Given the description of an element on the screen output the (x, y) to click on. 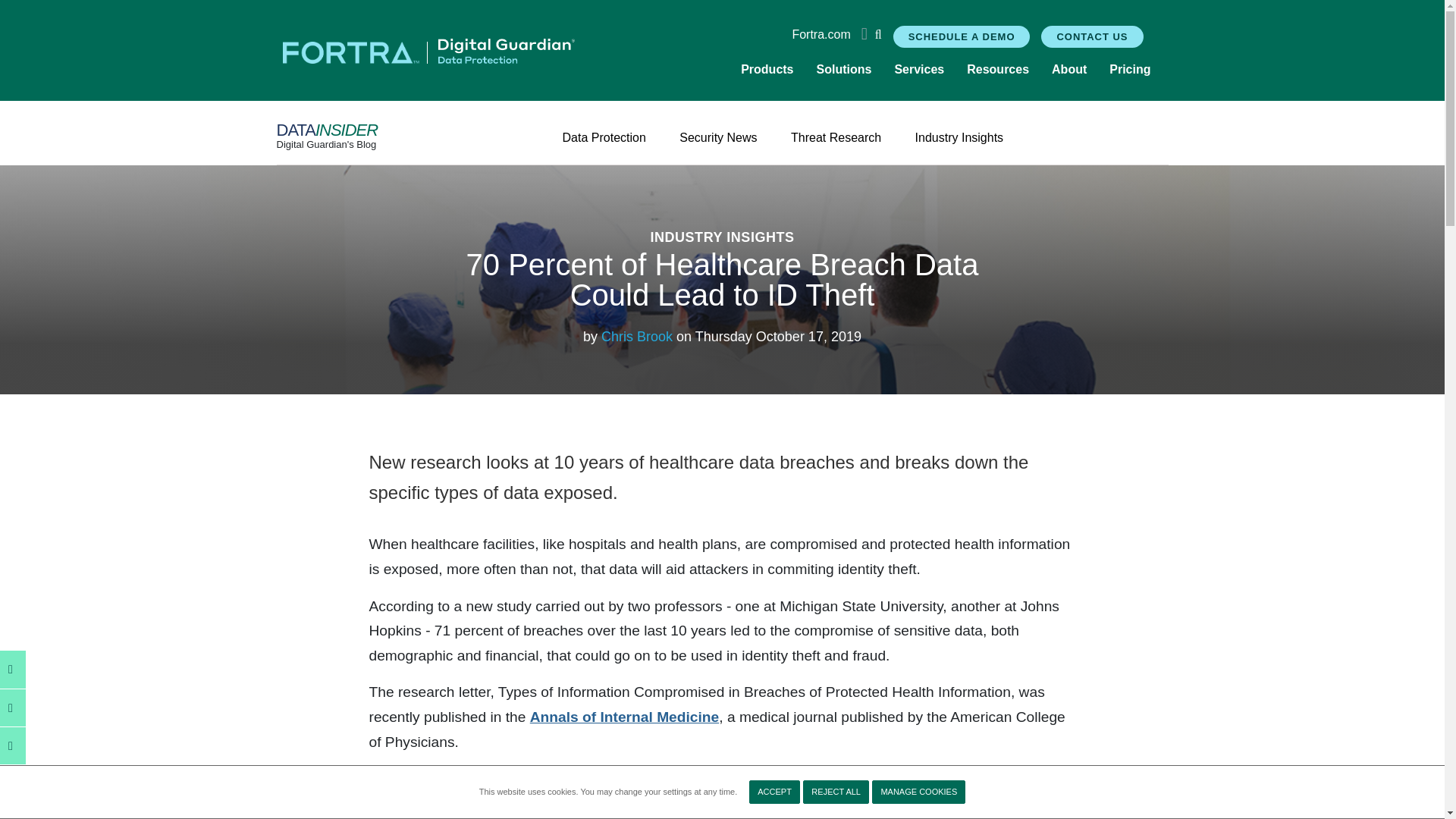
Fortra.com (821, 34)
SCHEDULE A DEMO (961, 36)
Products (767, 69)
REJECT ALL (836, 791)
MANAGE COOKIES (918, 791)
CONTACT US (1091, 36)
ACCEPT (774, 791)
